Given the description of an element on the screen output the (x, y) to click on. 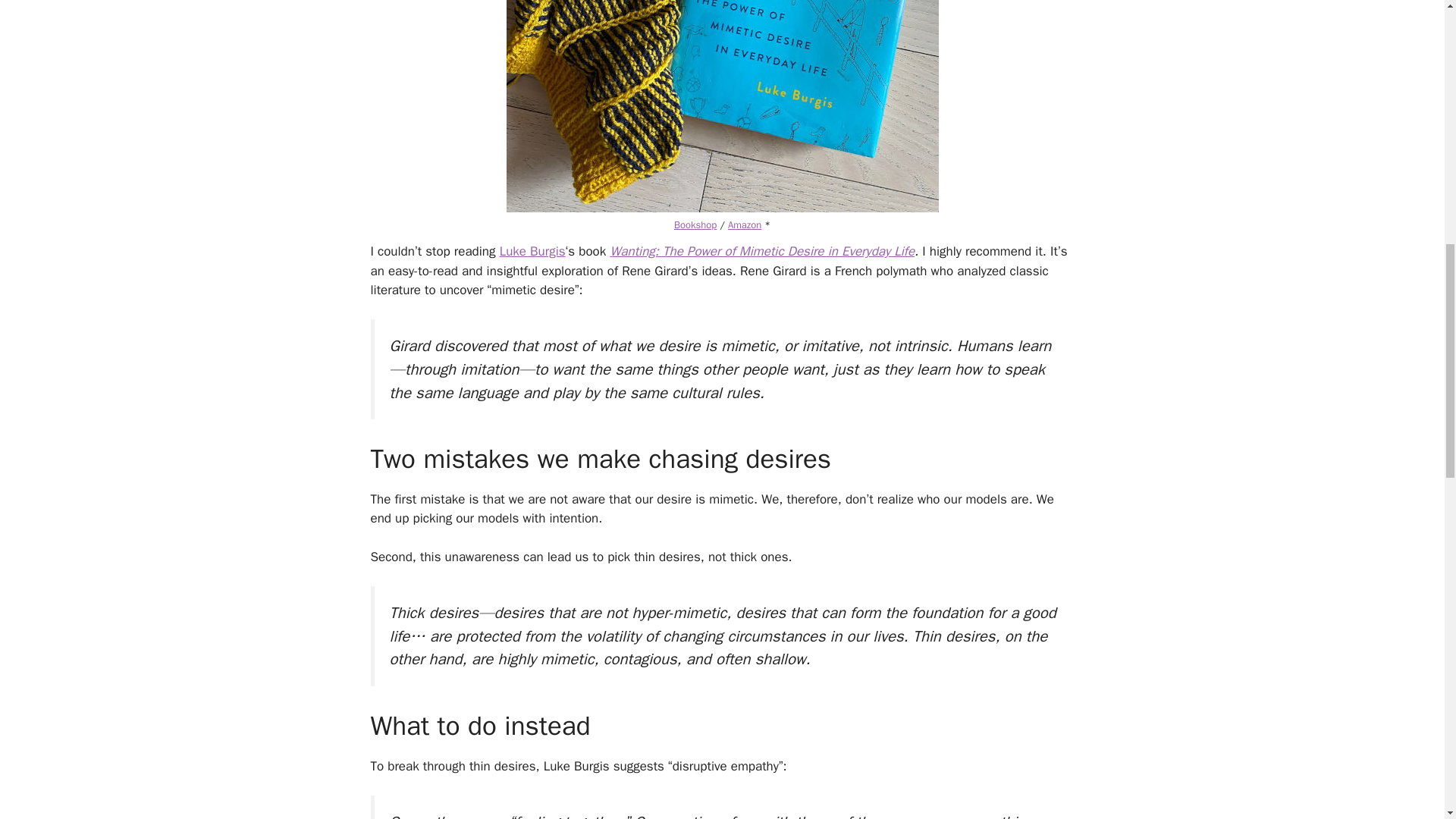
Luke Burgis (532, 251)
Bookshop (695, 224)
Amazon (744, 224)
Wanting: The Power of Mimetic Desire in Everyday Life (762, 251)
